Given the description of an element on the screen output the (x, y) to click on. 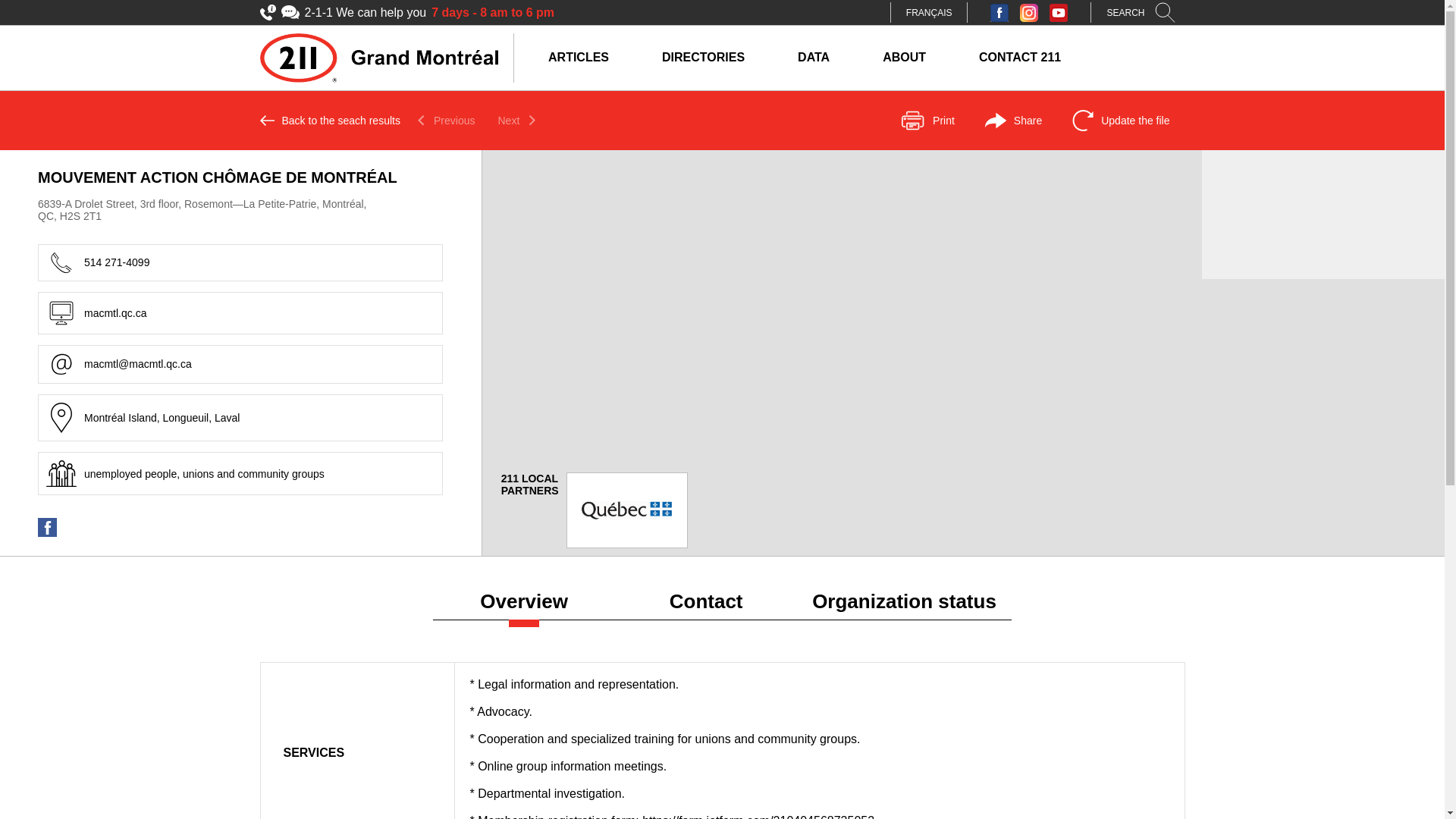
CONTACT 211 Element type: text (1019, 57)
Chat Element type: hover (289, 12)
Back to the seach results Element type: text (329, 120)
Next Element type: text (517, 120)
ARTICLES Element type: text (578, 57)
514 271-4099 Element type: text (239, 262)
SEARCH Element type: text (1145, 12)
Organization status Element type: text (904, 605)
Previous Element type: text (445, 120)
DATA Element type: text (813, 57)
Print Element type: text (926, 120)
DIRECTORIES Element type: text (703, 57)
macmtl.qc.ca Element type: hover (61, 313)
unemployed people, unions and community groups Element type: hover (61, 473)
Update the file Element type: text (1120, 120)
ABOUT Element type: text (903, 57)
514 271-4099 Element type: hover (61, 262)
Overview Element type: text (524, 605)
macmtl.qc.ca Element type: text (239, 312)
Share Element type: text (1013, 120)
macmtl@macmtl.qc.ca Element type: text (239, 364)
Contact Element type: text (706, 605)
macmtl@macmtl.qc.ca Element type: hover (61, 364)
